Given the description of an element on the screen output the (x, y) to click on. 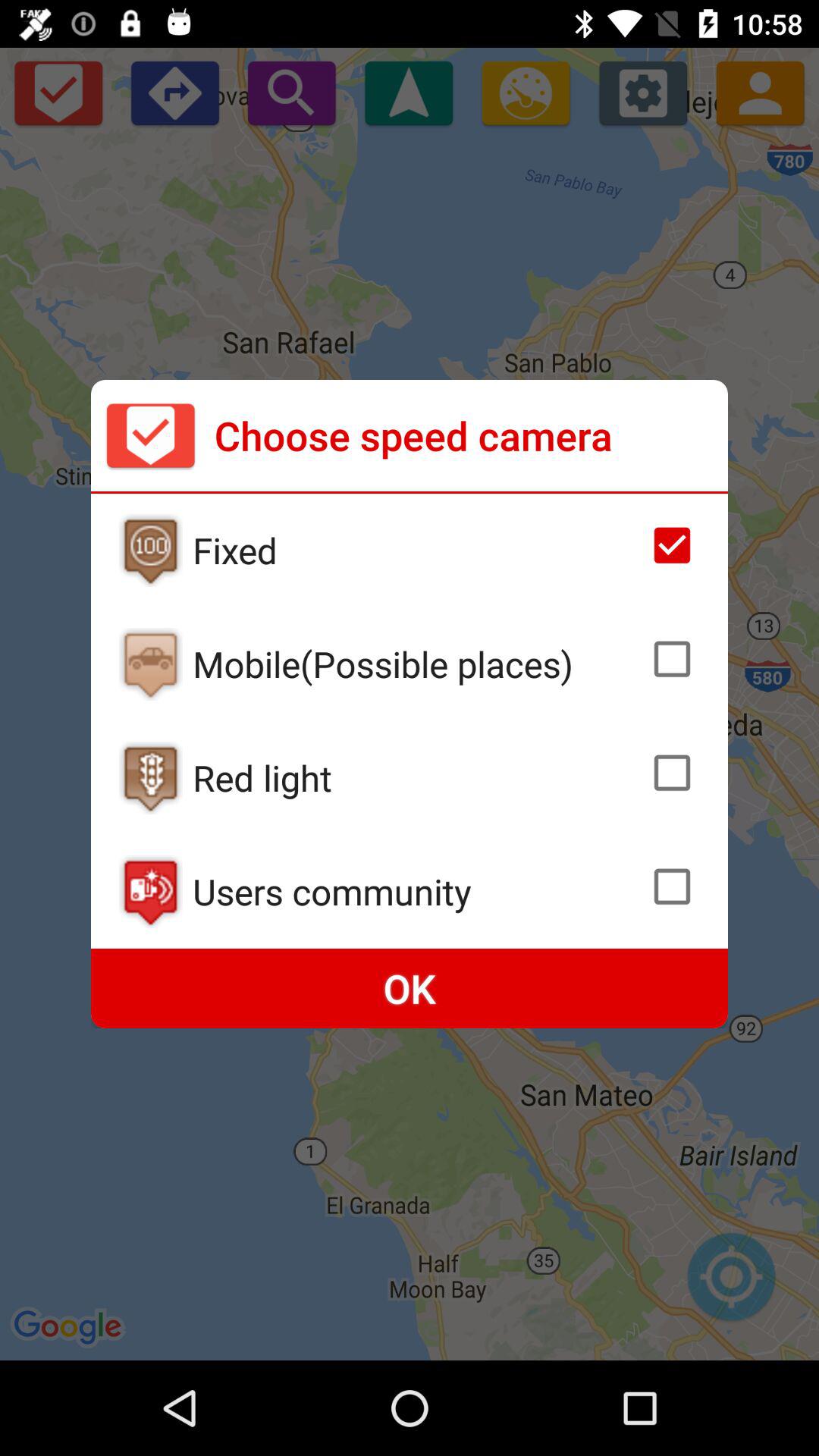
press item above ok item (416, 891)
